Given the description of an element on the screen output the (x, y) to click on. 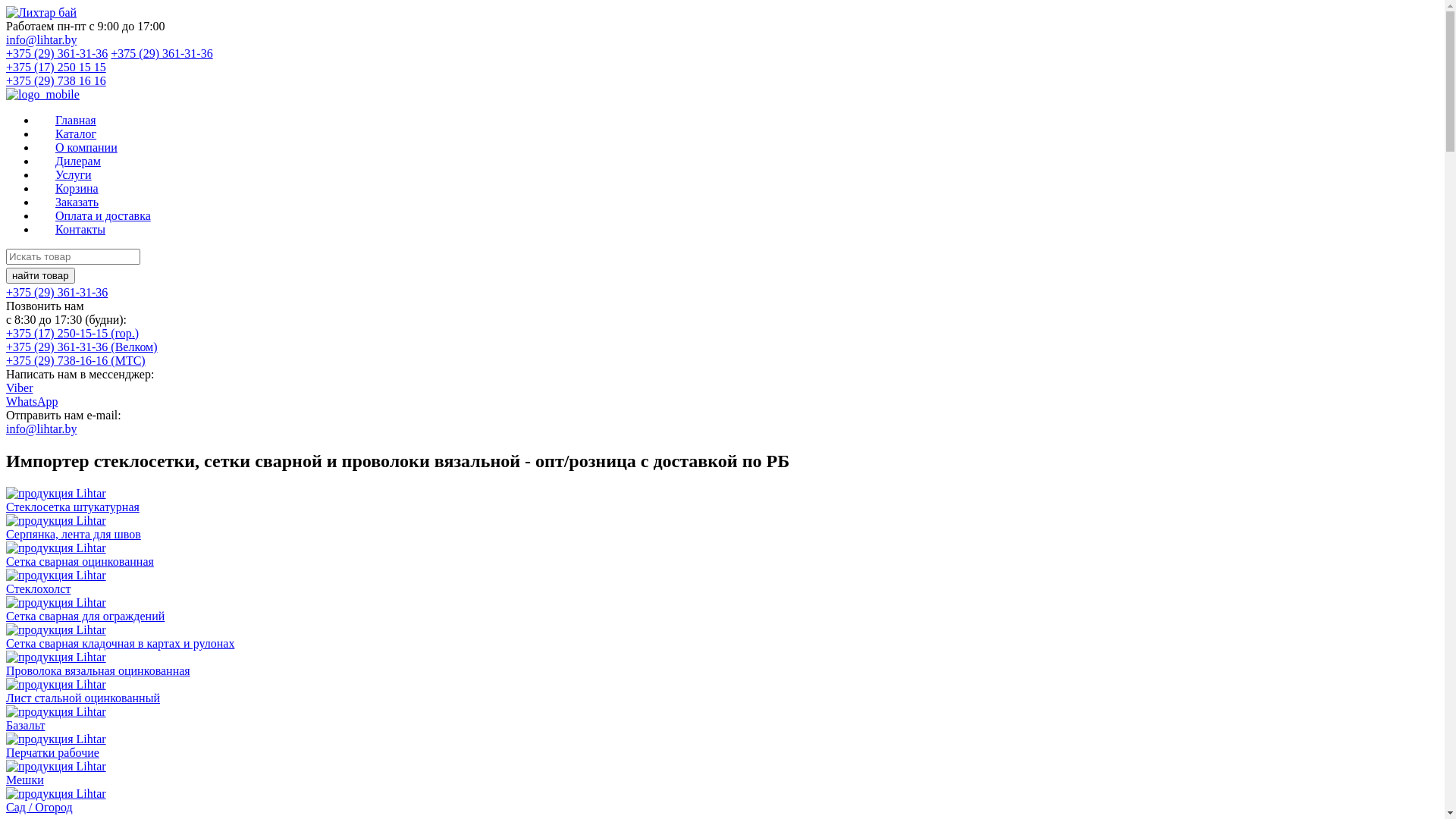
Viber Element type: text (19, 387)
+375 (29) 361-31-36 Element type: text (56, 291)
info@lihtar.by Element type: text (41, 428)
+375 (29) 361-31-36 Element type: text (161, 53)
+375 (29) 738 16 16 Element type: text (56, 80)
+375 (29) 361-31-36 Element type: text (56, 53)
+375 (17) 250 15 15 Element type: text (56, 66)
WhatsApp Element type: text (31, 401)
info@lihtar.by Element type: text (41, 39)
